Given the description of an element on the screen output the (x, y) to click on. 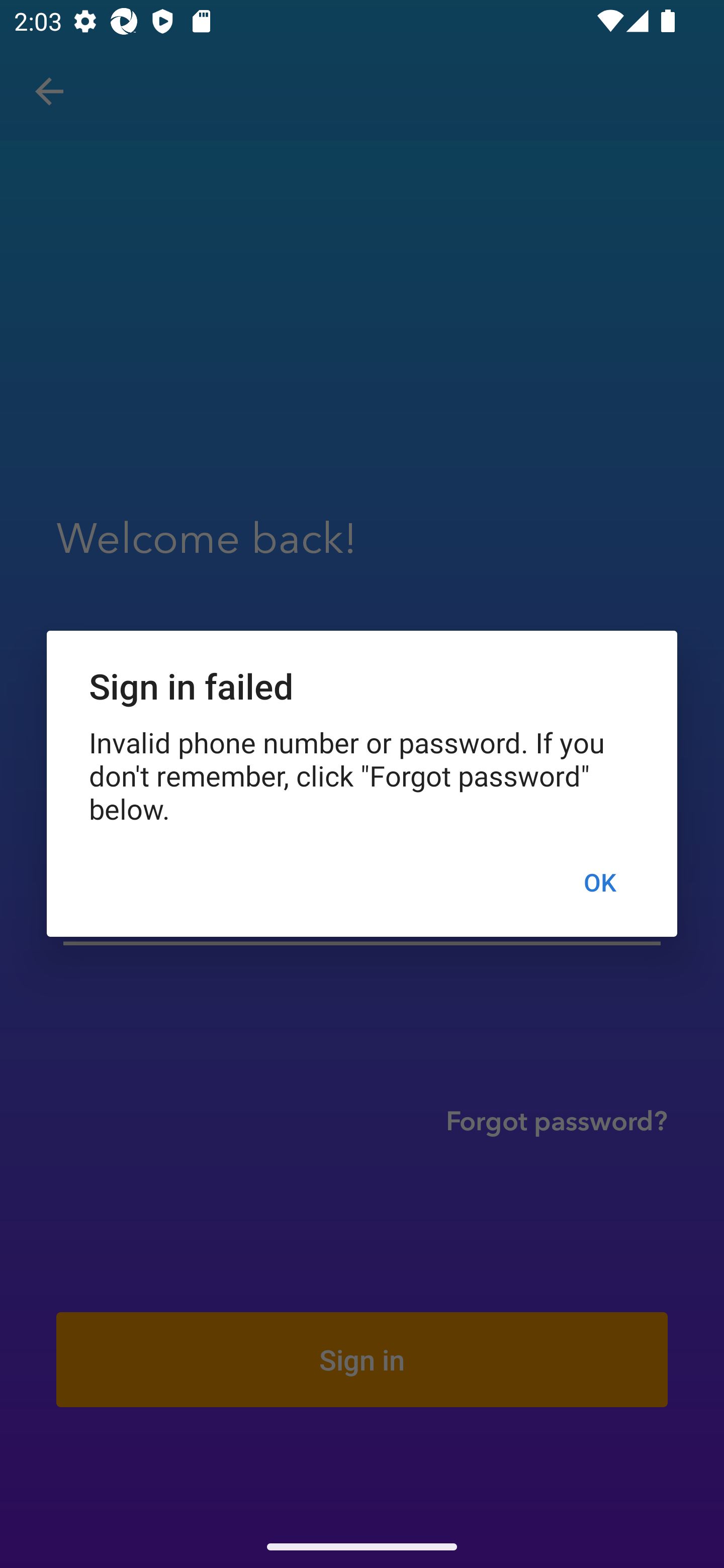
OK (599, 881)
